Given the description of an element on the screen output the (x, y) to click on. 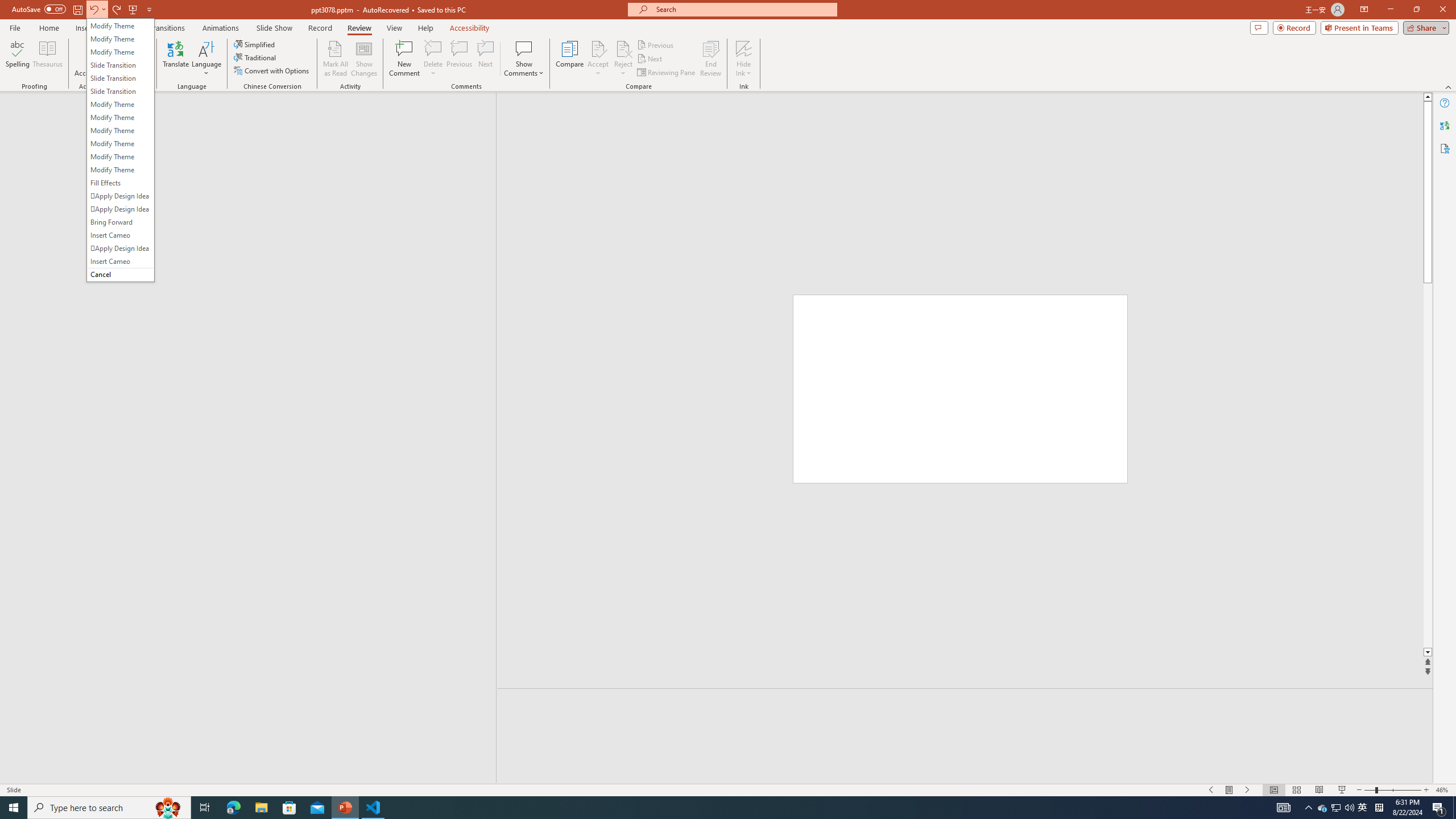
Hide Ink (743, 58)
Action Center, 1 new notification (1439, 807)
Slide Show Previous On (1211, 790)
Previous (655, 44)
Accept (598, 58)
Zoom 46% (1443, 790)
